Given the description of an element on the screen output the (x, y) to click on. 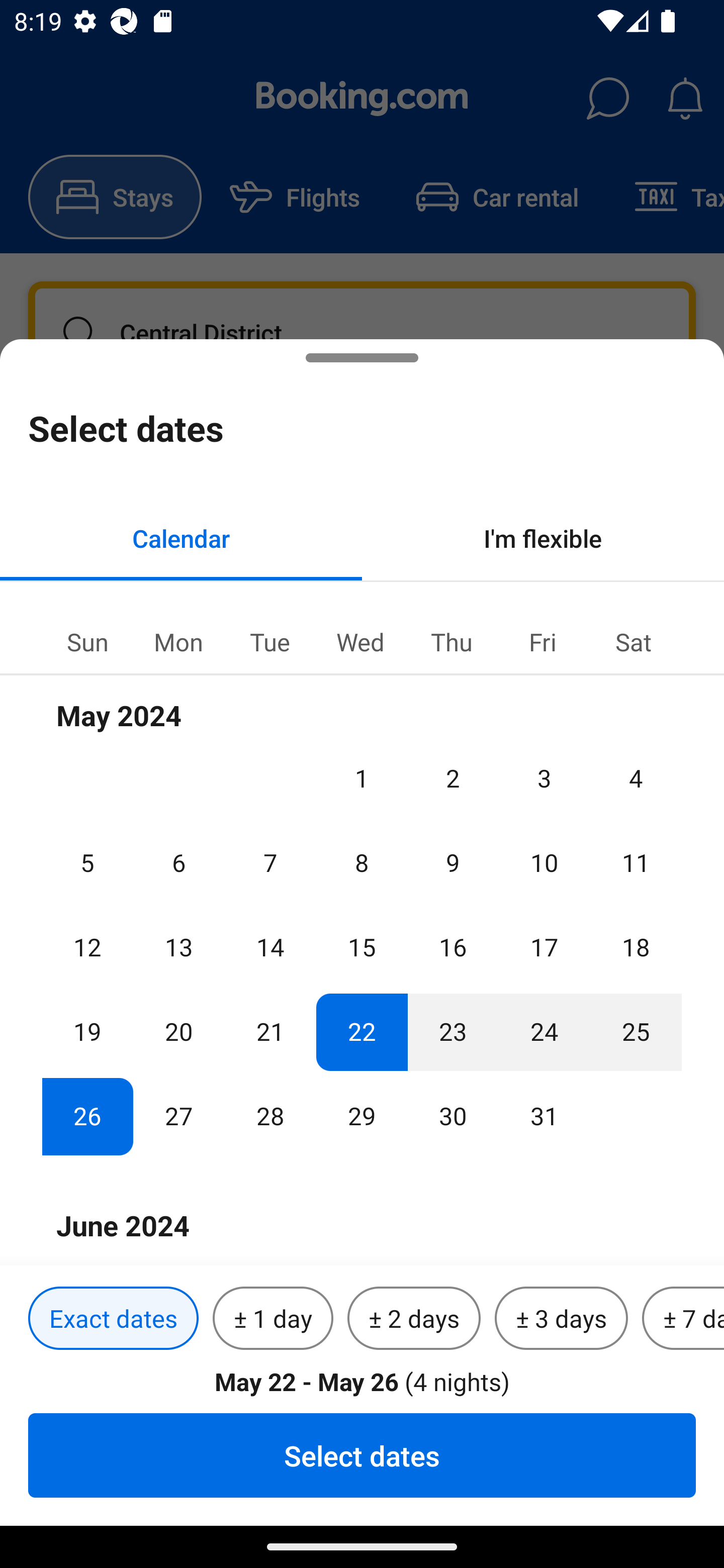
I'm flexible (543, 537)
Exact dates (113, 1318)
± 1 day (272, 1318)
± 2 days (413, 1318)
± 3 days (560, 1318)
± 7 days (683, 1318)
Select dates (361, 1454)
